Given the description of an element on the screen output the (x, y) to click on. 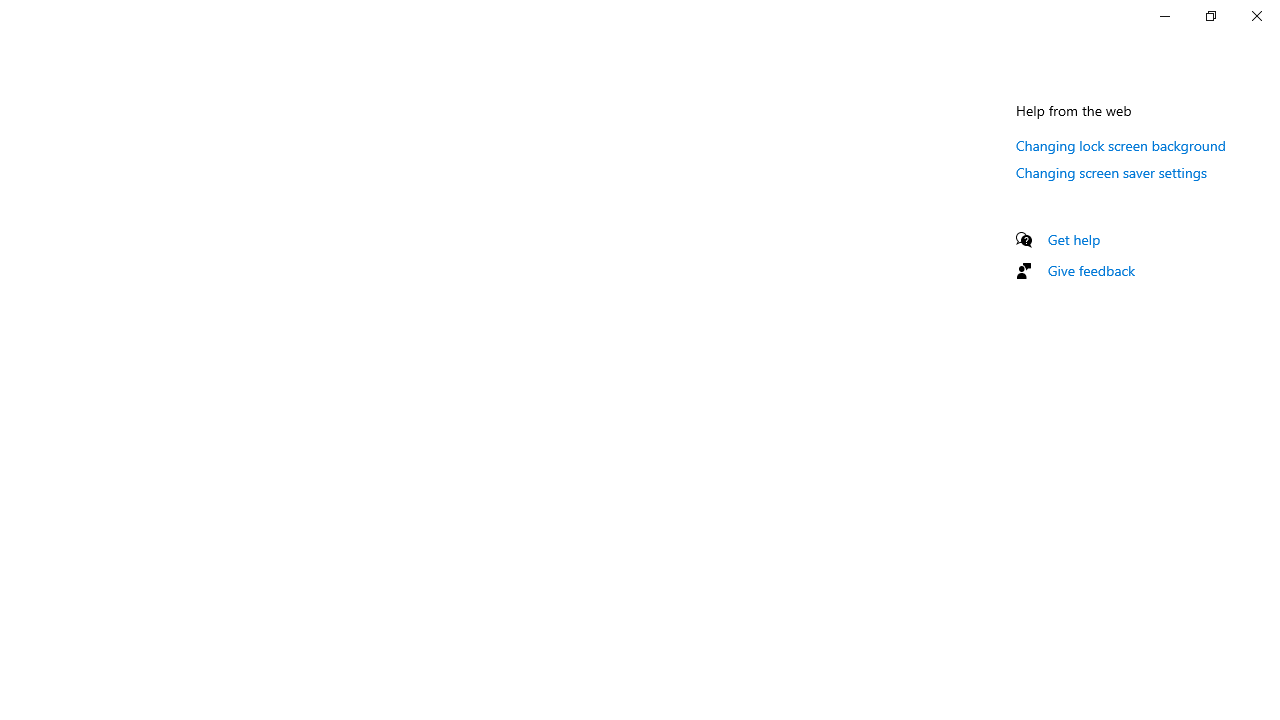
Changing screen saver settings (1111, 172)
Give feedback (1091, 270)
Changing lock screen background (1121, 145)
